Given the description of an element on the screen output the (x, y) to click on. 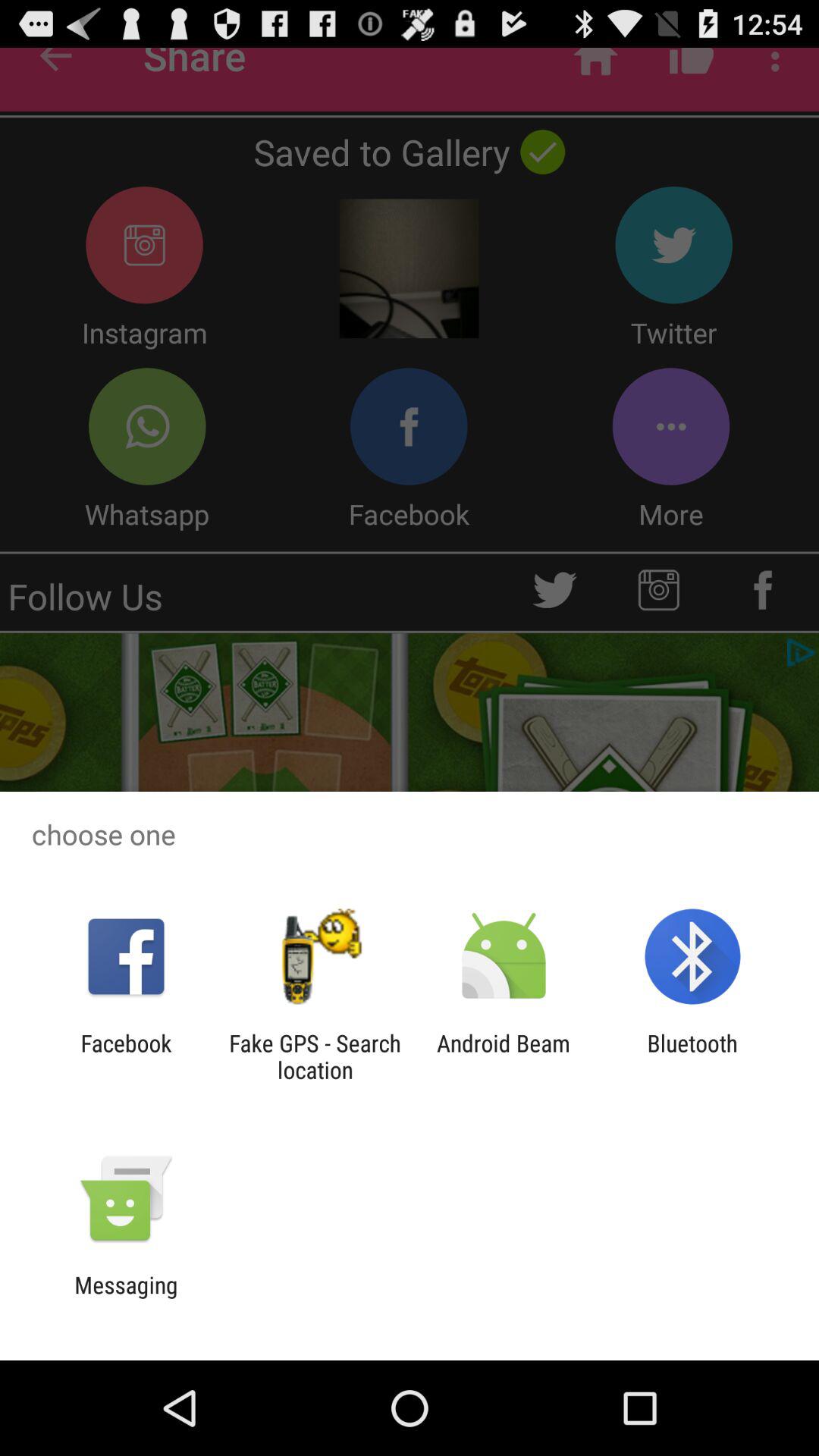
turn on the item to the right of the facebook icon (314, 1056)
